Given the description of an element on the screen output the (x, y) to click on. 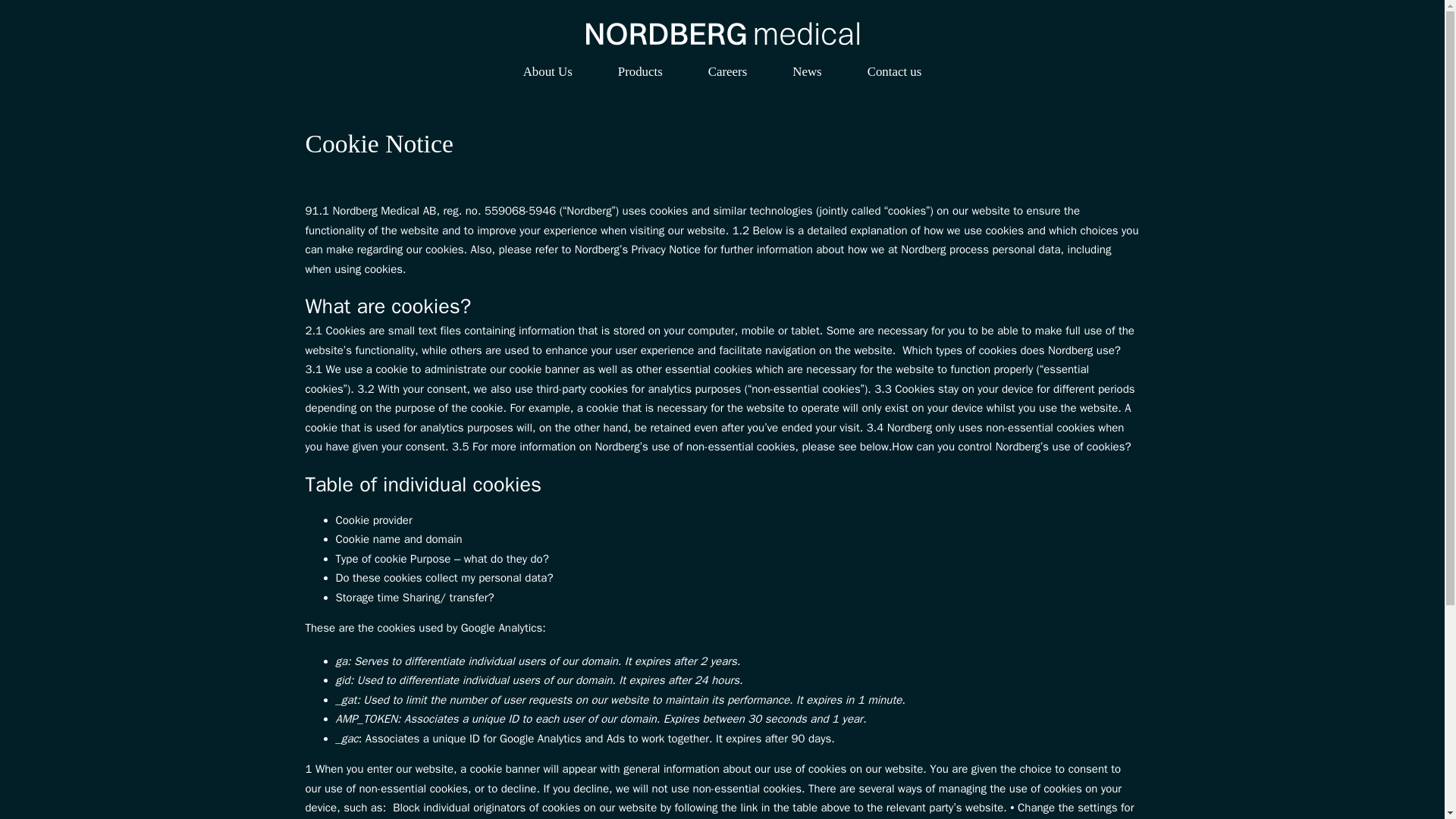
Products (639, 72)
About Us (547, 72)
Contact us (894, 72)
News (806, 72)
Careers (726, 72)
